Given the description of an element on the screen output the (x, y) to click on. 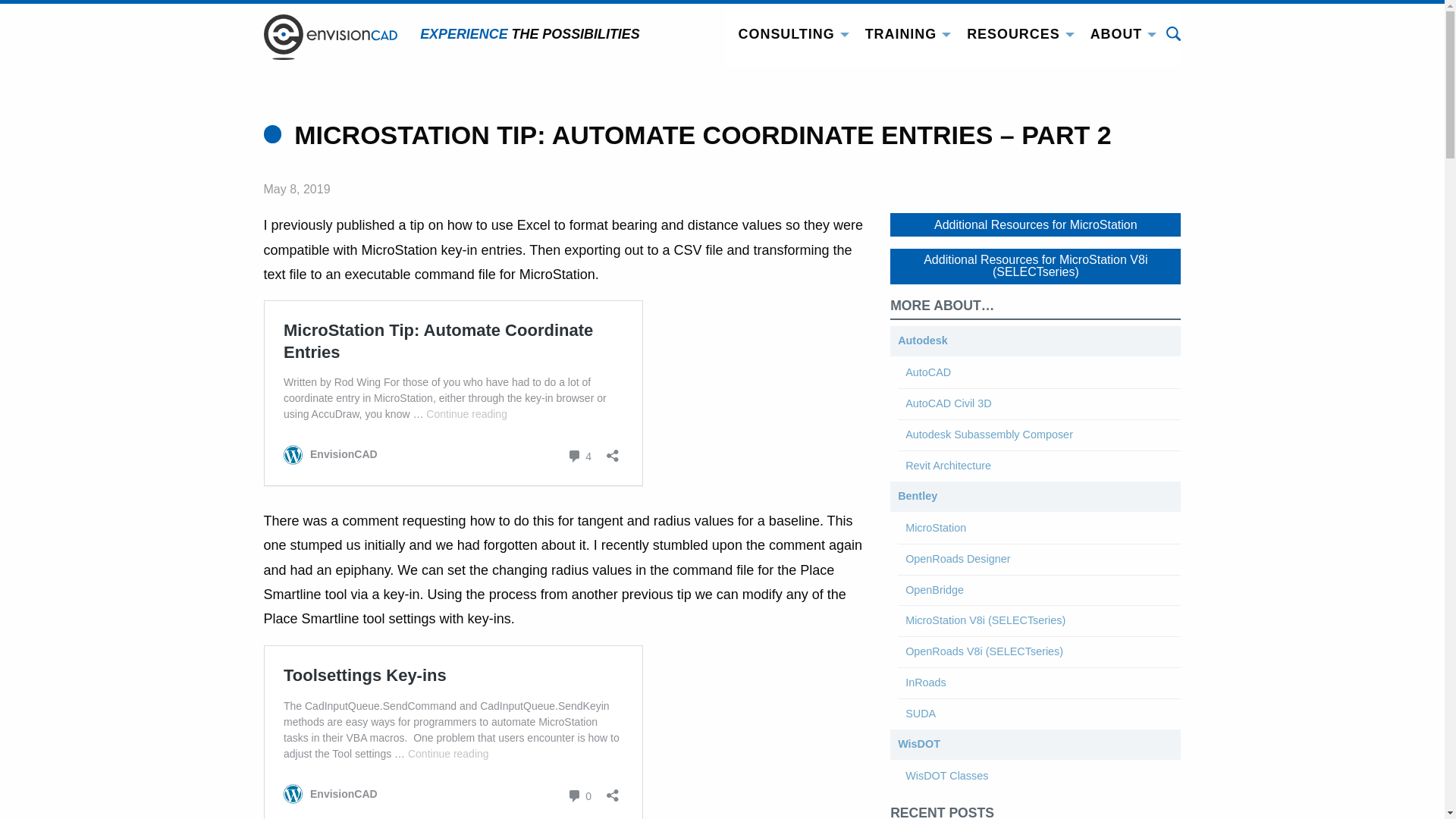
Search (1173, 33)
TRAINING (904, 34)
CONSULTING (789, 34)
Search (1173, 33)
